Given the description of an element on the screen output the (x, y) to click on. 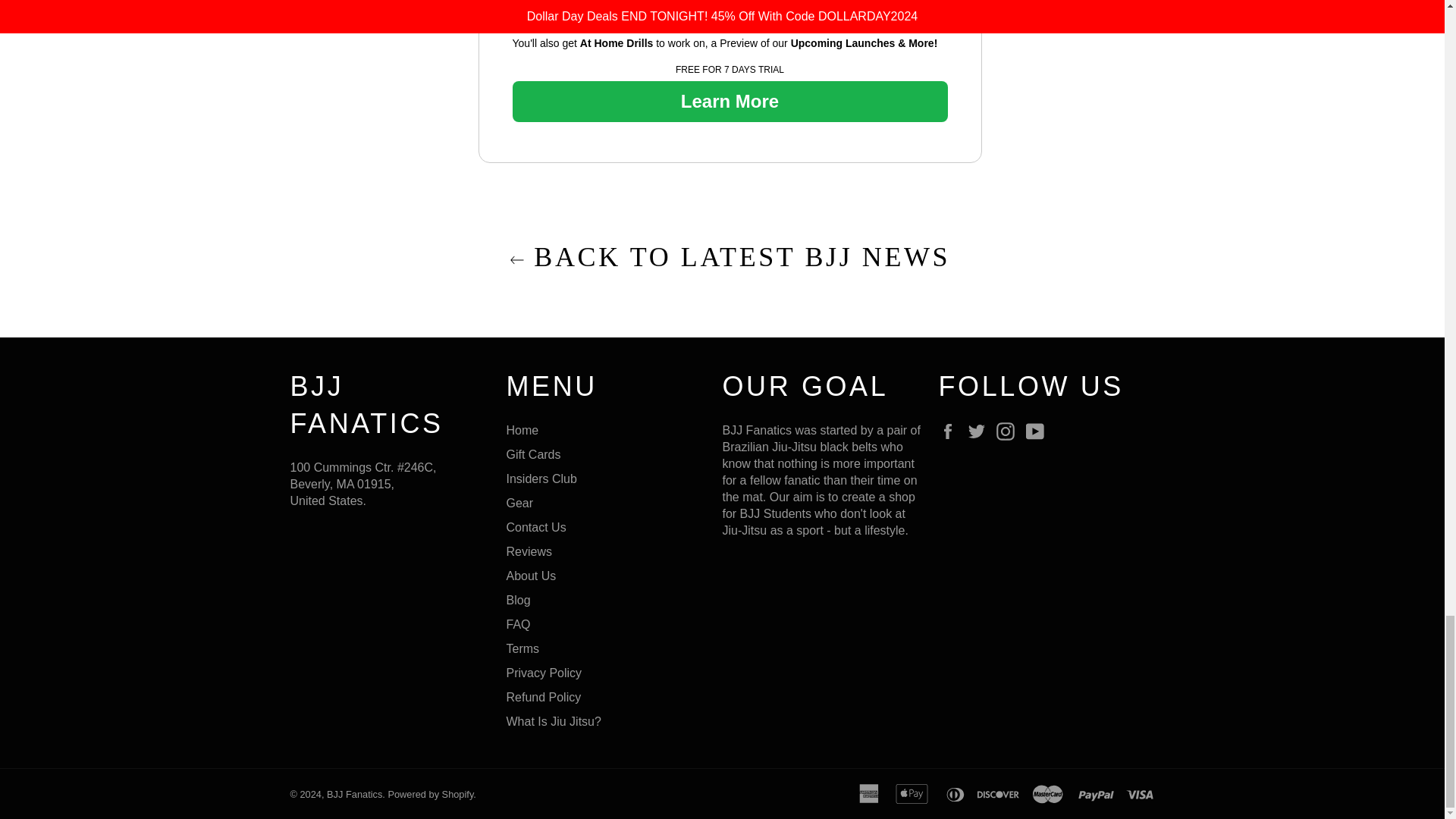
BJJ Fanatics on YouTube (1038, 431)
BJJ Fanatics on Twitter (980, 431)
BJJ Fanatics on Instagram (1008, 431)
BJJ Fanatics on Facebook (951, 431)
